Given the description of an element on the screen output the (x, y) to click on. 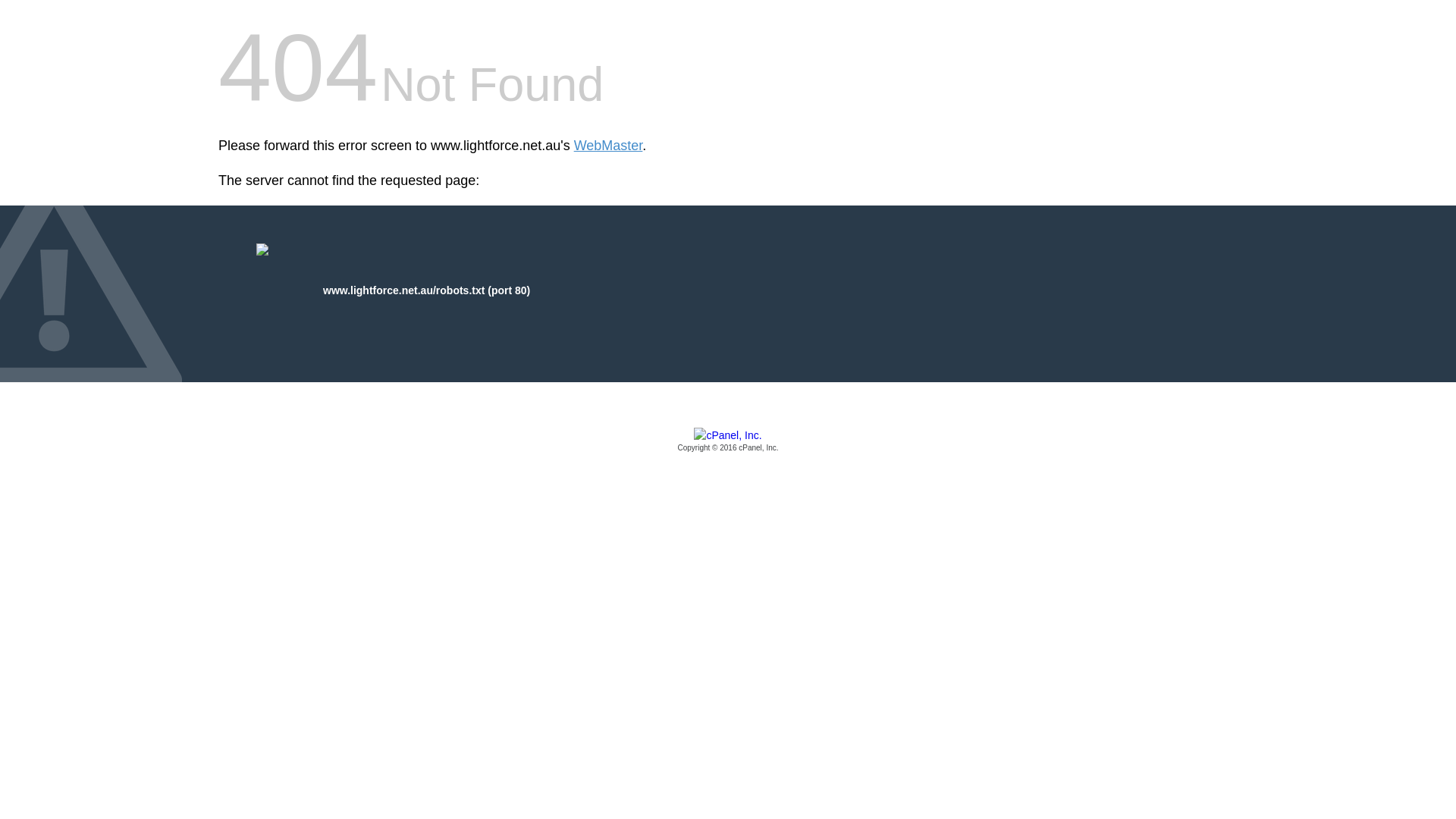
WebMaster Element type: text (608, 145)
